Given the description of an element on the screen output the (x, y) to click on. 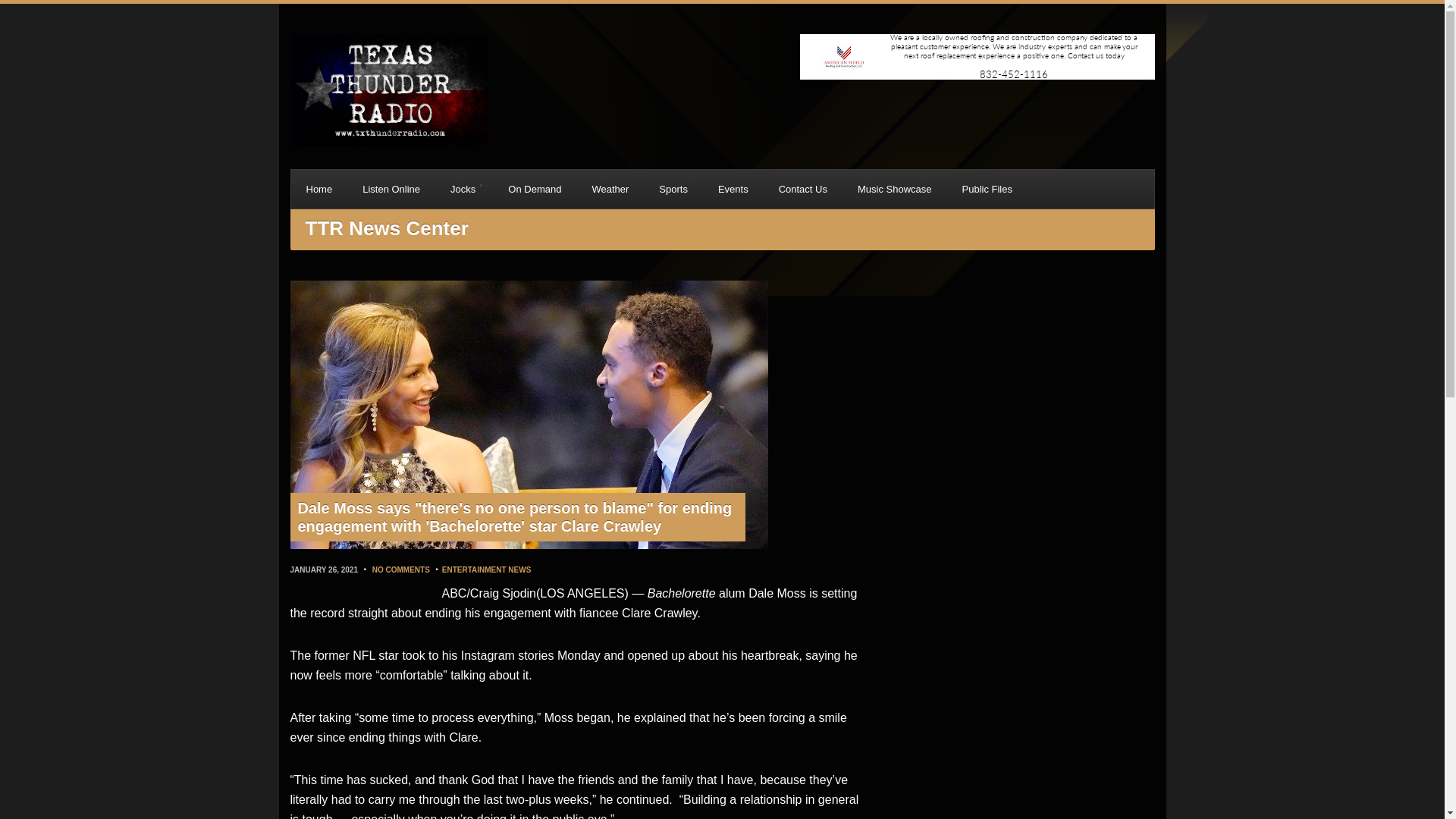
Music Showcase (895, 188)
Listen Online (391, 188)
Sports (673, 188)
Public Files (986, 188)
Contact Us (802, 188)
Weather (609, 188)
Home (319, 188)
NO COMMENTS (400, 569)
Events (732, 188)
ENTERTAINMENT NEWS (486, 569)
On Demand (534, 188)
Jocks (464, 188)
